Given the description of an element on the screen output the (x, y) to click on. 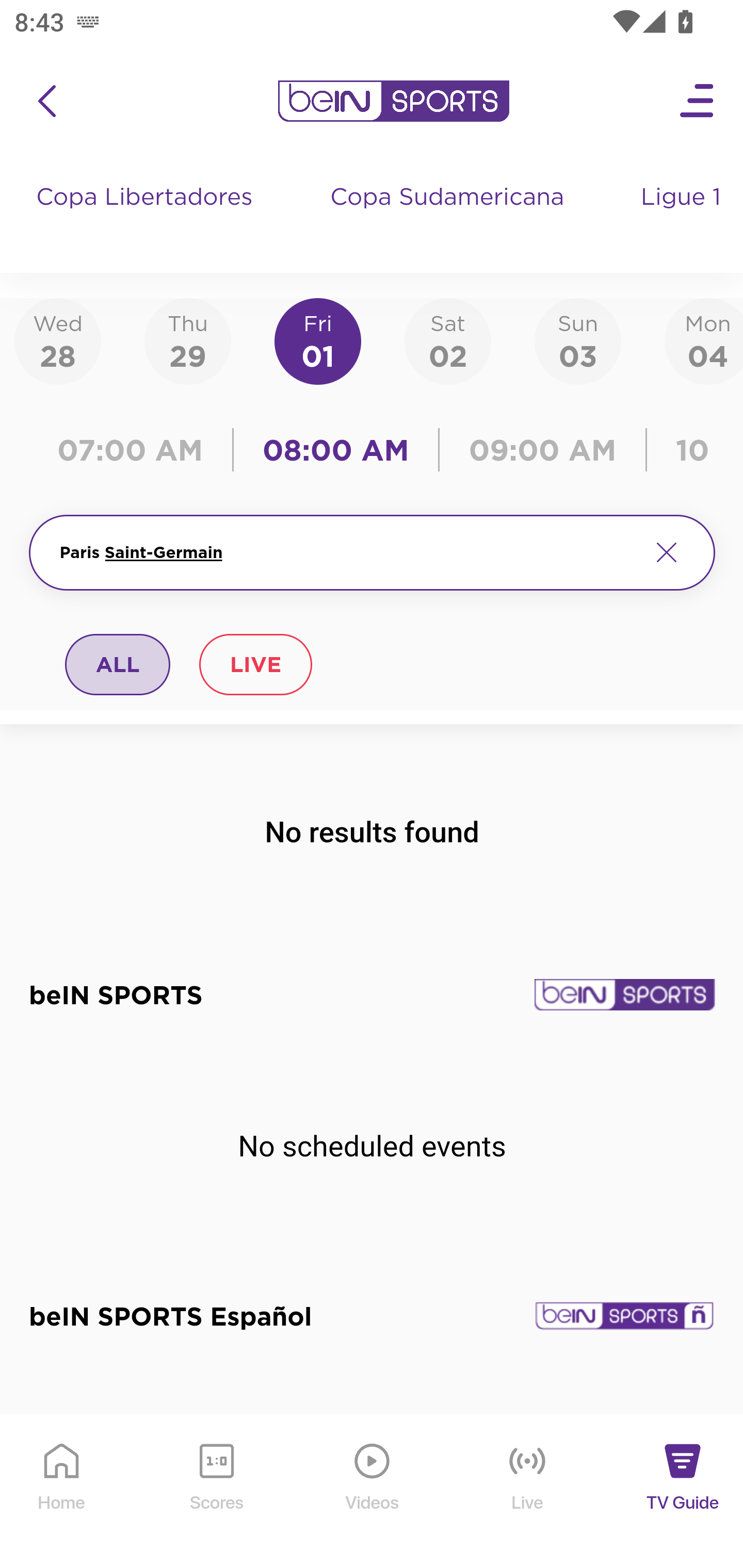
en-us?platform=mobile_android bein logo (392, 101)
icon back (46, 101)
Open Menu Icon (697, 101)
Copa Libertadores (146, 216)
Copa Sudamericana (448, 216)
Ligue 1 (682, 216)
Wed28 (58, 340)
Thu29 (187, 340)
Fri01 (318, 340)
Sat02 (447, 340)
Sun03 (578, 340)
Mon04 (703, 340)
07:00 AM (135, 449)
08:00 AM (336, 449)
09:00 AM (542, 449)
Paris Saint-Germain (346, 552)
ALL (118, 663)
LIVE (255, 663)
Home Home Icon Home (61, 1491)
Scores Scores Icon Scores (216, 1491)
Videos Videos Icon Videos (372, 1491)
TV Guide TV Guide Icon TV Guide (682, 1491)
